Given the description of an element on the screen output the (x, y) to click on. 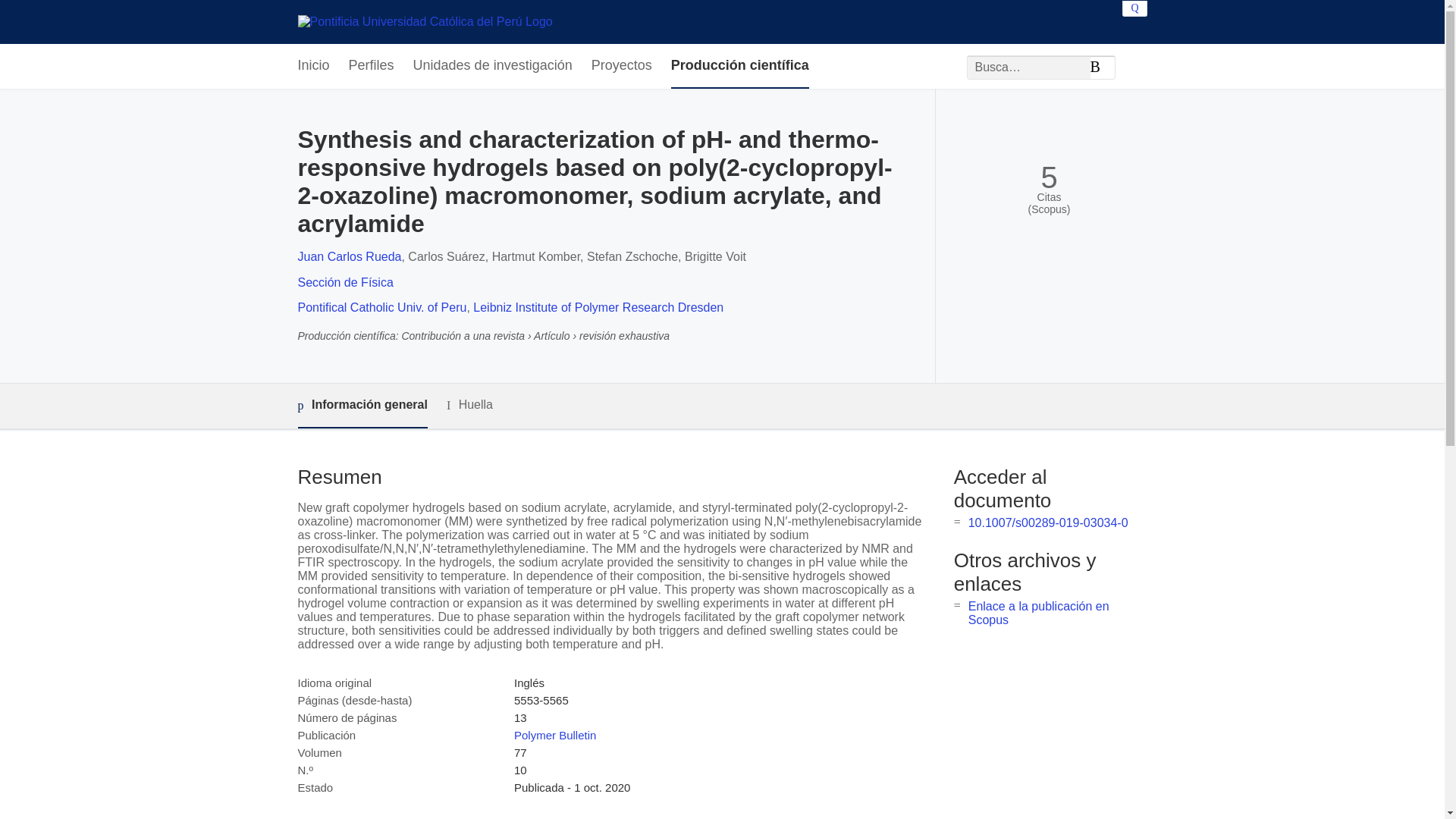
Pontifical Catholic Univ. of Peru (381, 307)
Leibniz Institute of Polymer Research Dresden (598, 307)
Proyectos (621, 66)
Juan Carlos Rueda (349, 256)
Polymer Bulletin (554, 735)
Perfiles (371, 66)
Huella (469, 405)
